Given the description of an element on the screen output the (x, y) to click on. 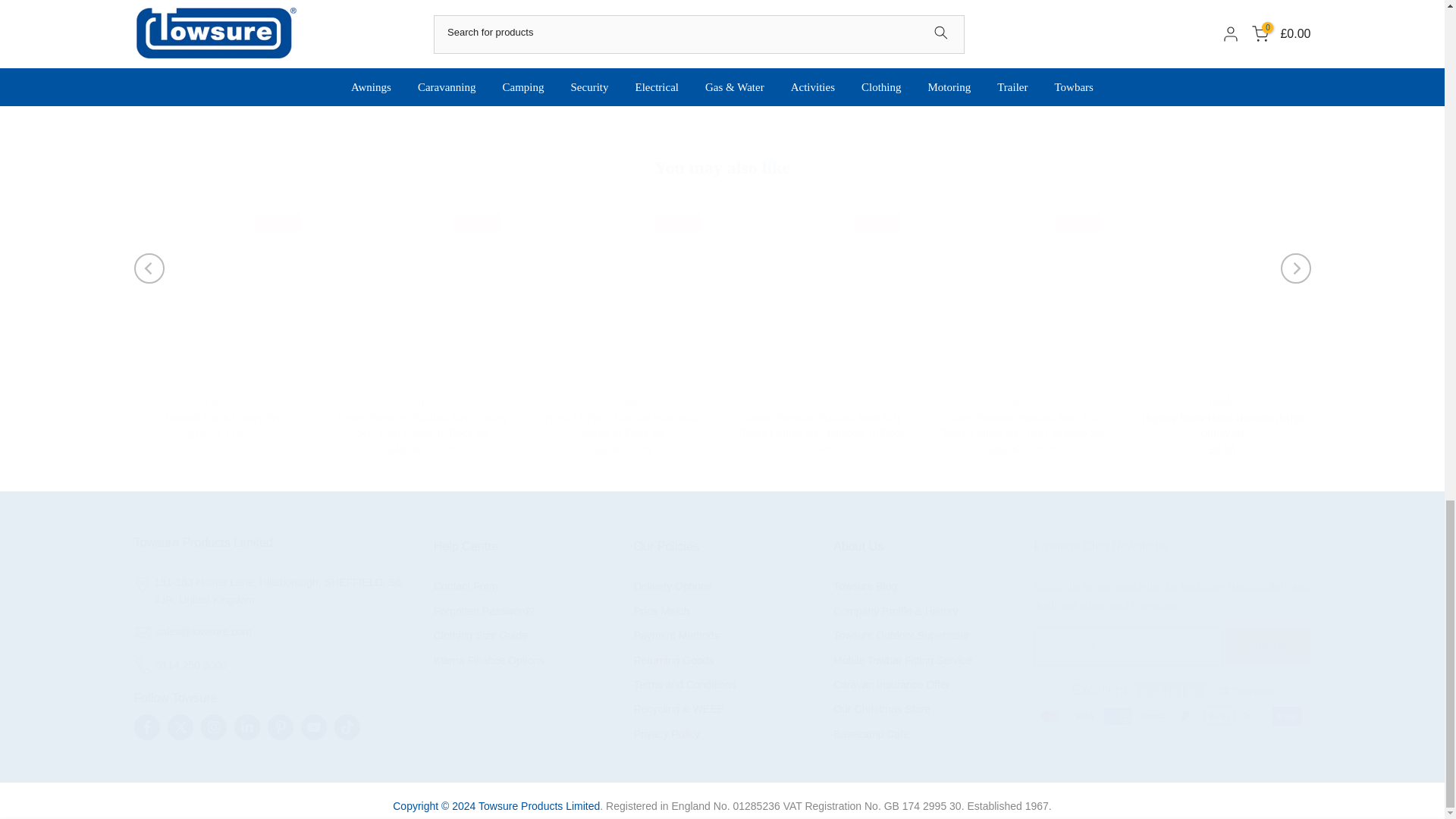
Follow on Linkedin (245, 727)
Follow on Instagram (212, 727)
Follow on Facebook (145, 727)
Follow on Twitter (179, 727)
